Given the description of an element on the screen output the (x, y) to click on. 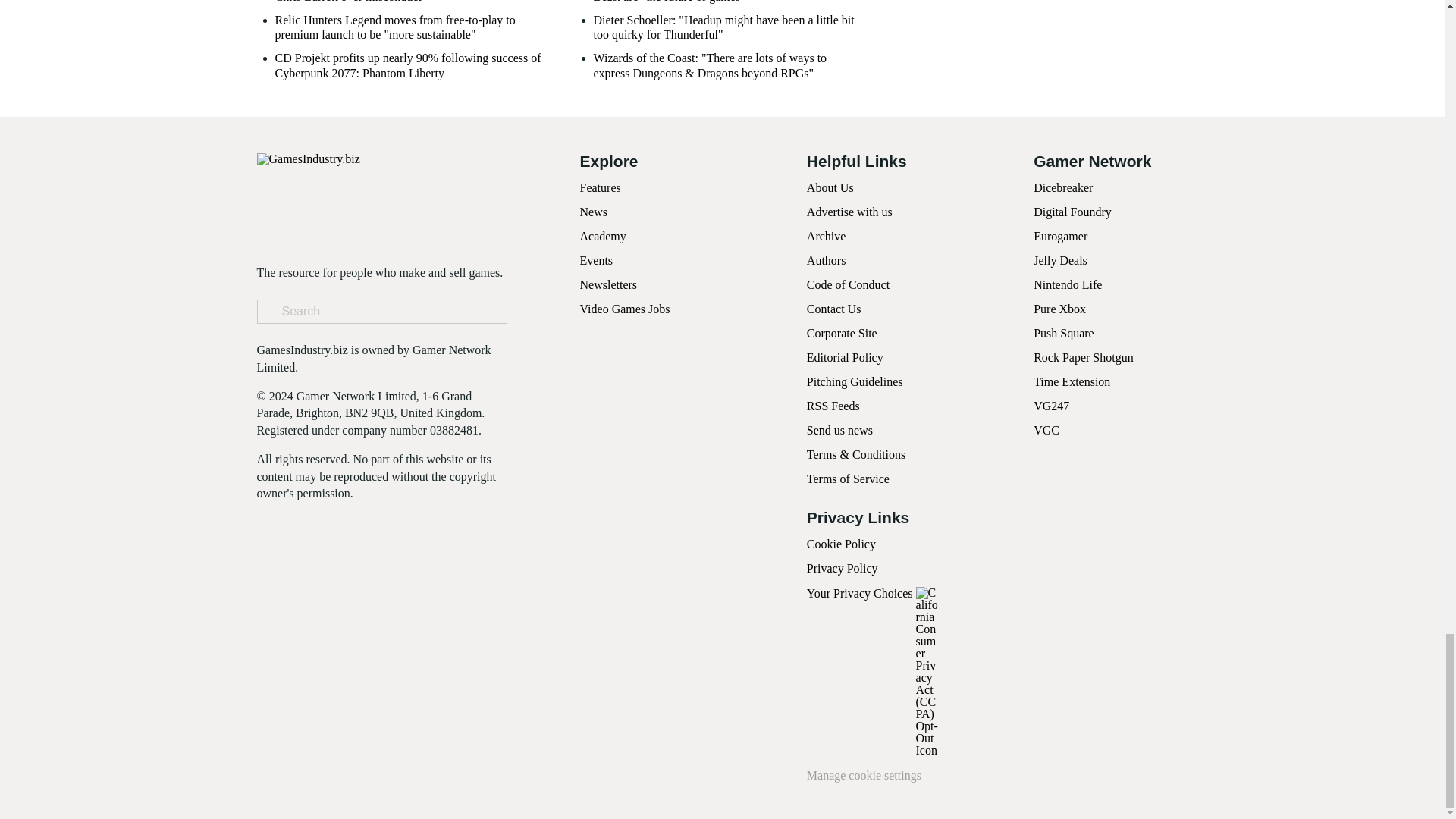
Video Games Jobs (624, 308)
Events (595, 259)
Academy (602, 236)
Features (599, 187)
About Us (829, 187)
News (593, 211)
Newsletters (608, 284)
